Given the description of an element on the screen output the (x, y) to click on. 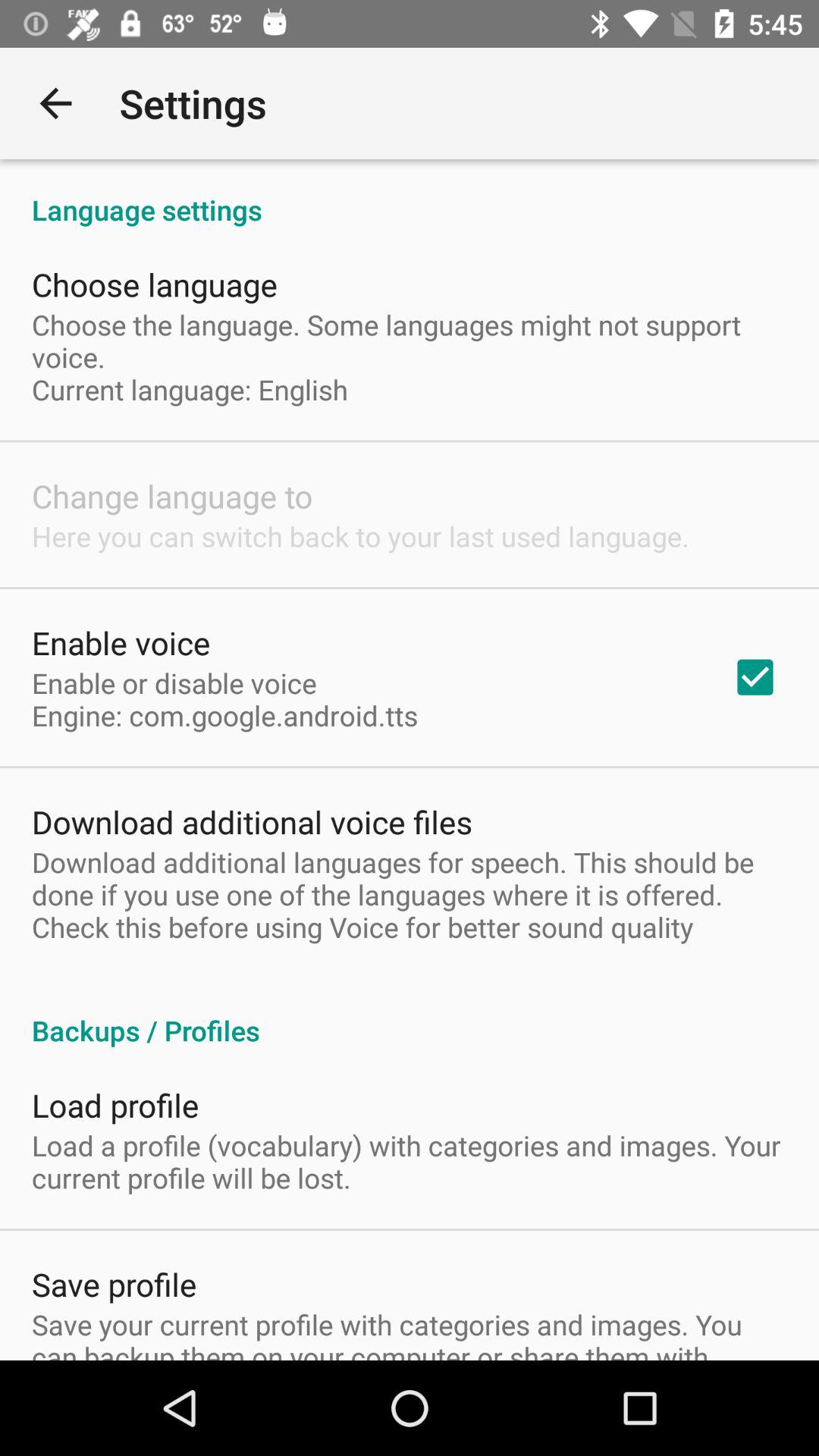
select the checkbox (755, 677)
